Given the description of an element on the screen output the (x, y) to click on. 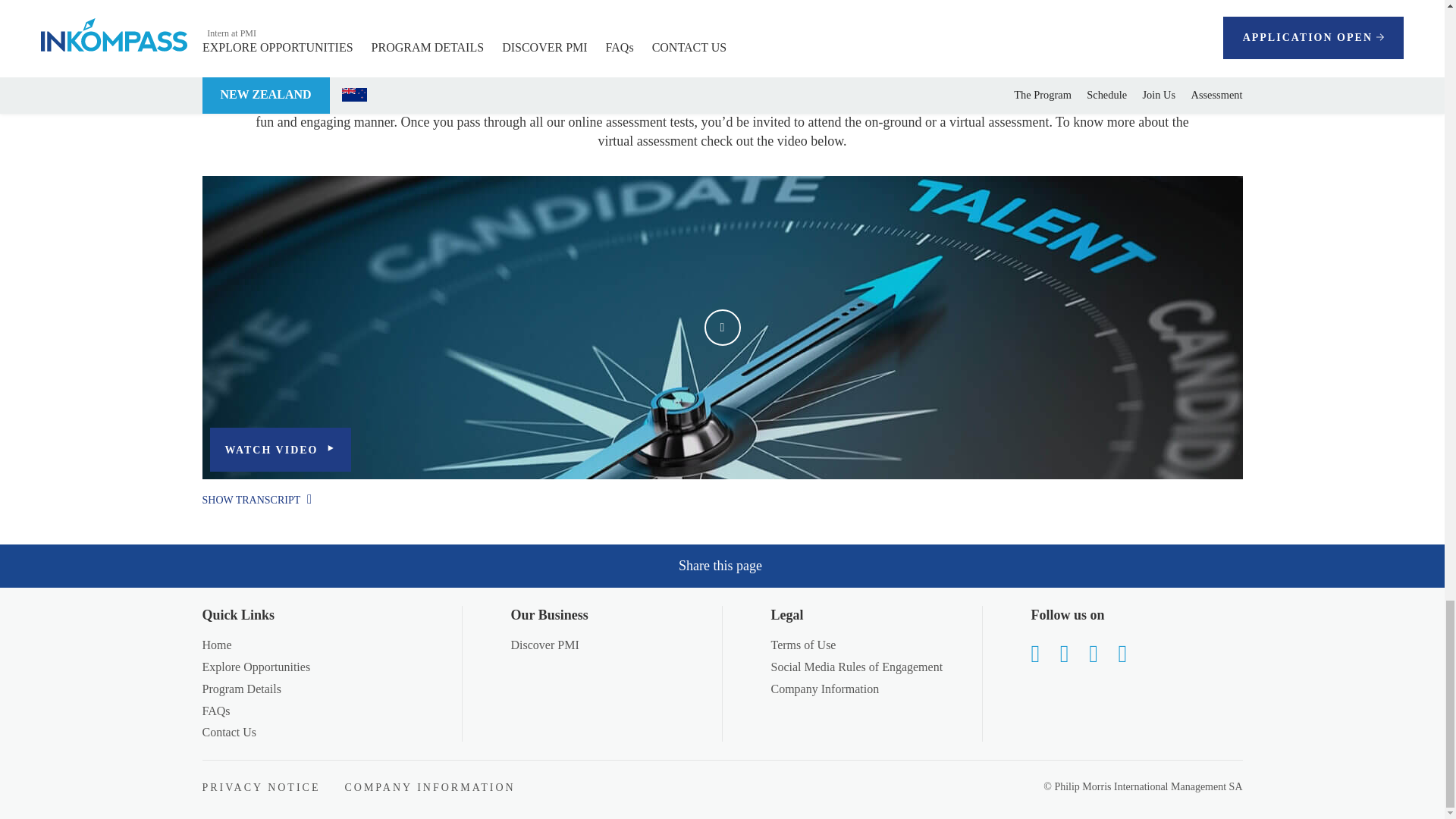
Program Details (241, 688)
Company Information (824, 688)
COMPANY INFORMATION (429, 787)
Home (216, 644)
Explore Opportunities (256, 666)
FAQs (216, 710)
Social Media Rules of Engagement (856, 666)
Discover PMI (545, 644)
PRIVACY NOTICE (261, 787)
Contact Us (229, 731)
Terms of Use (802, 644)
